Given the description of an element on the screen output the (x, y) to click on. 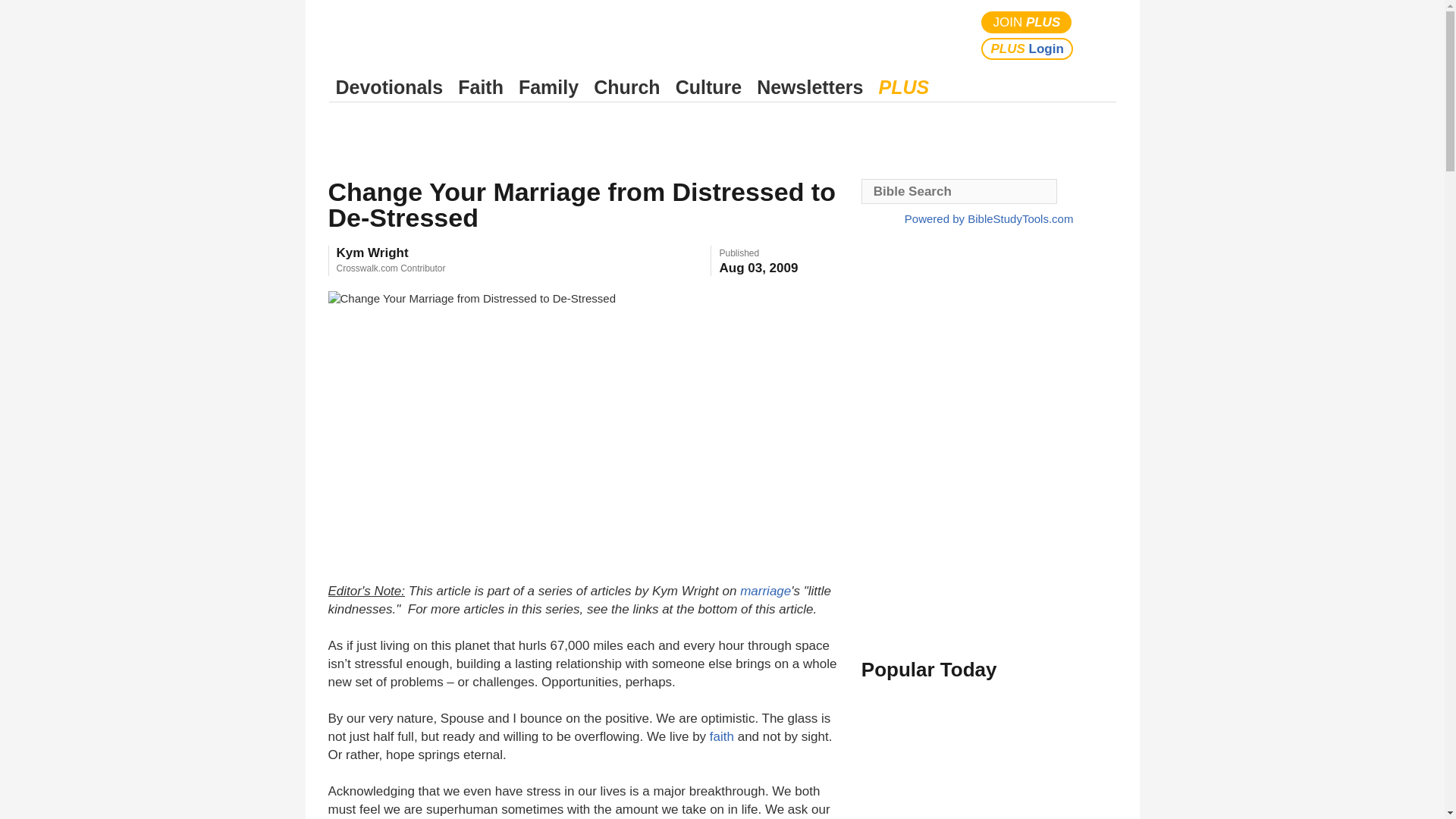
Devotionals (389, 87)
Search (1101, 34)
Faith (481, 87)
Plus Login (1026, 48)
Join Plus (1026, 22)
JOIN PLUS (1026, 22)
Family (548, 87)
PLUS Login (1026, 48)
